Given the description of an element on the screen output the (x, y) to click on. 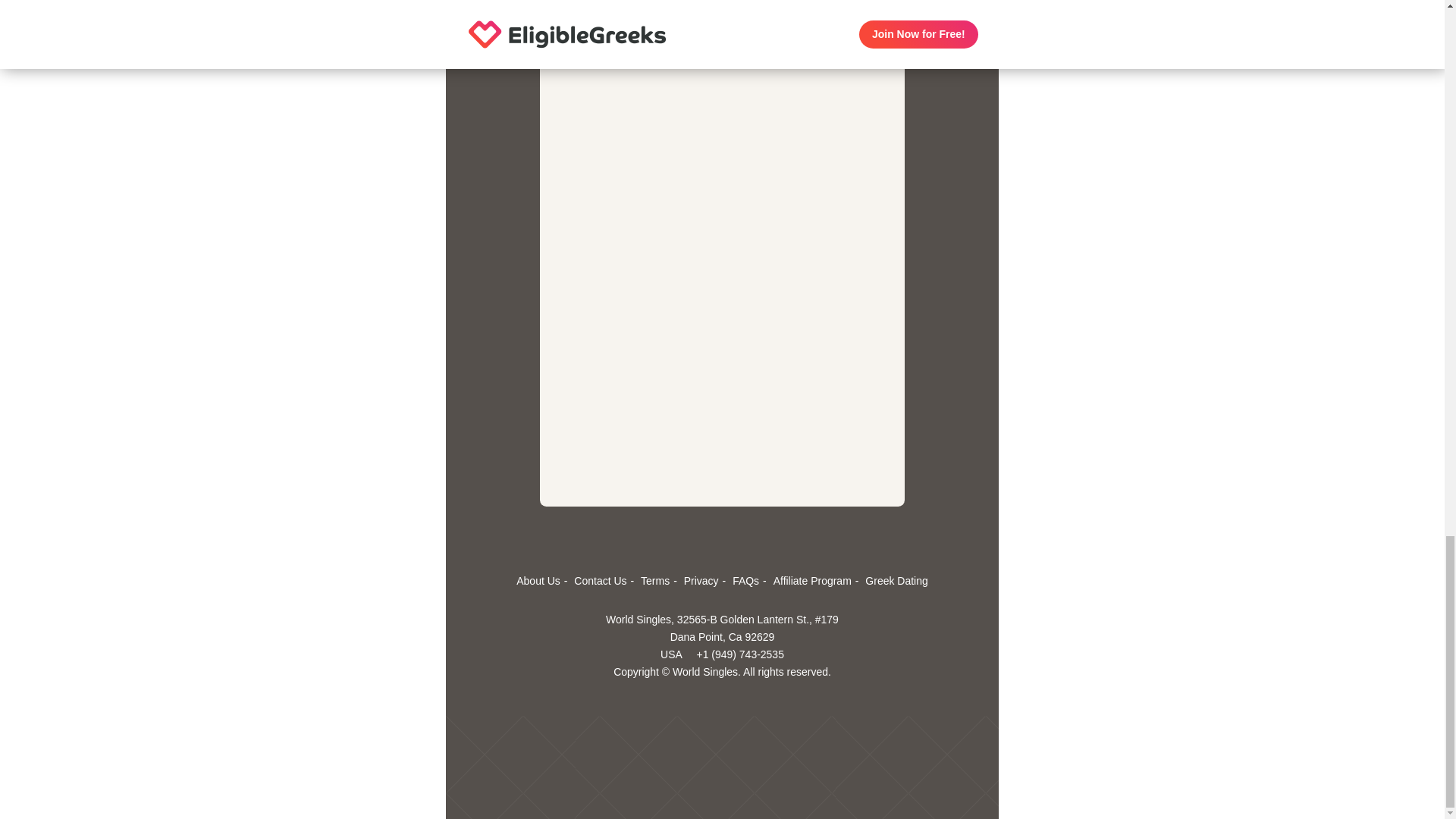
FAQs (751, 580)
Privacy (707, 580)
Affiliate Program (818, 580)
Greek Dating (895, 580)
About Us (543, 580)
Terms (660, 580)
Contact Us (605, 580)
